Given the description of an element on the screen output the (x, y) to click on. 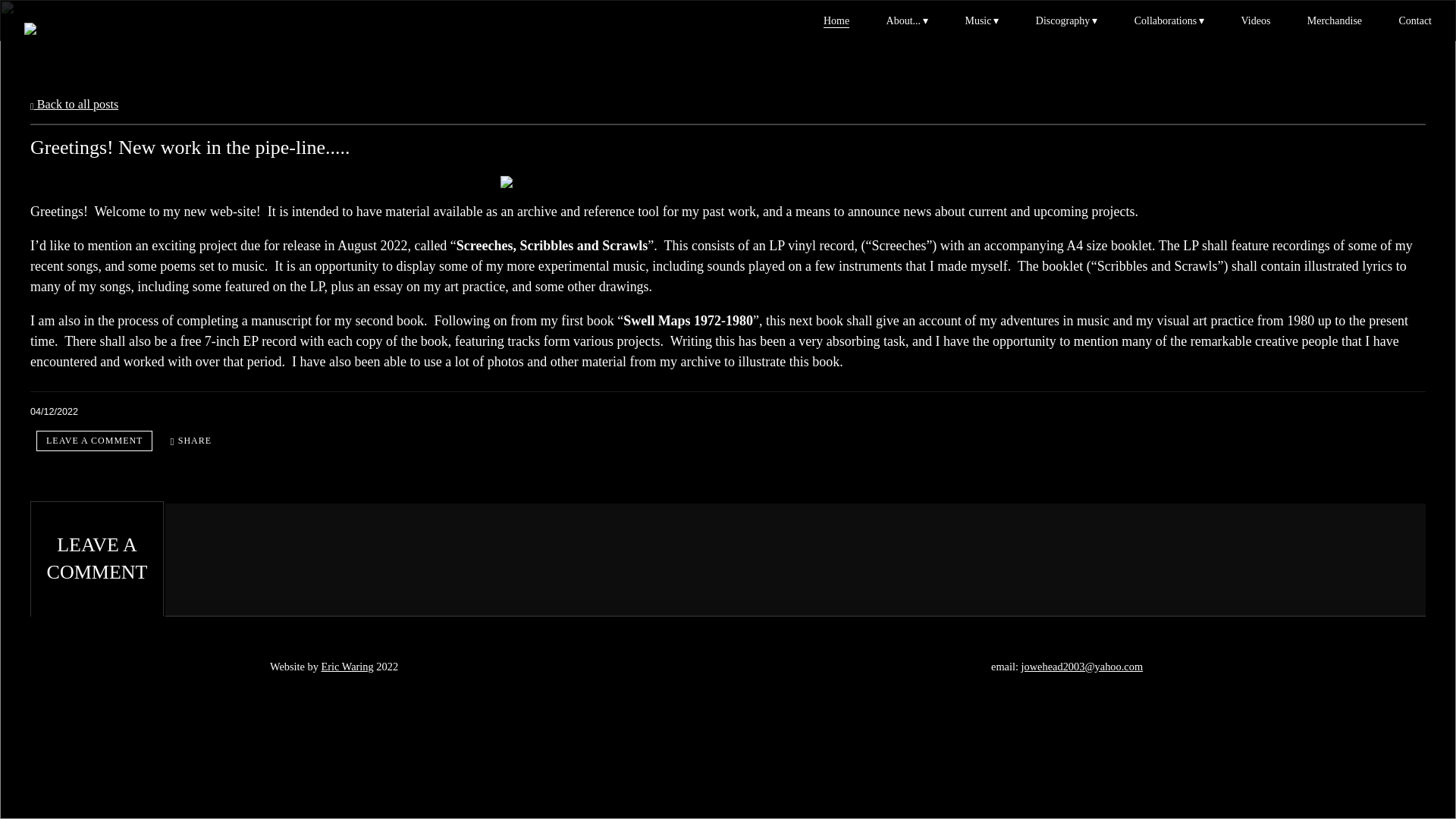
Home (836, 20)
About... (907, 20)
Share Greetings!  New work in the pipe-line..... (191, 440)
Discography (1066, 20)
Leave a comment (94, 440)
April 12, 2022 14:02 (54, 411)
Music (980, 20)
Collaborations (1169, 20)
